Given the description of an element on the screen output the (x, y) to click on. 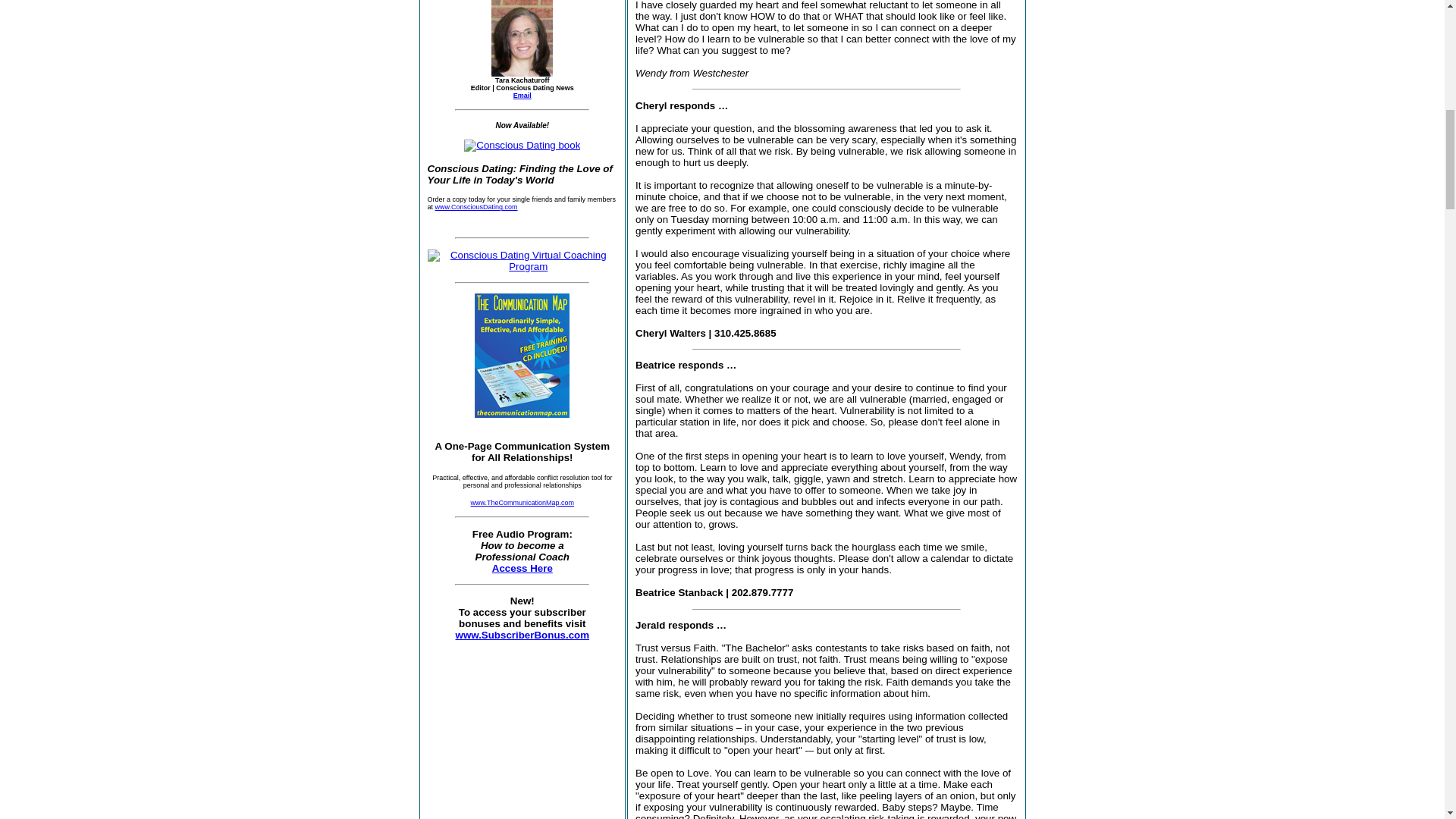
www.ConsciousDating.com (476, 206)
www.SubscriberBonus.com (522, 640)
Email (522, 95)
www.TheCommunicationMap.com (522, 502)
Access Here (522, 568)
